Given the description of an element on the screen output the (x, y) to click on. 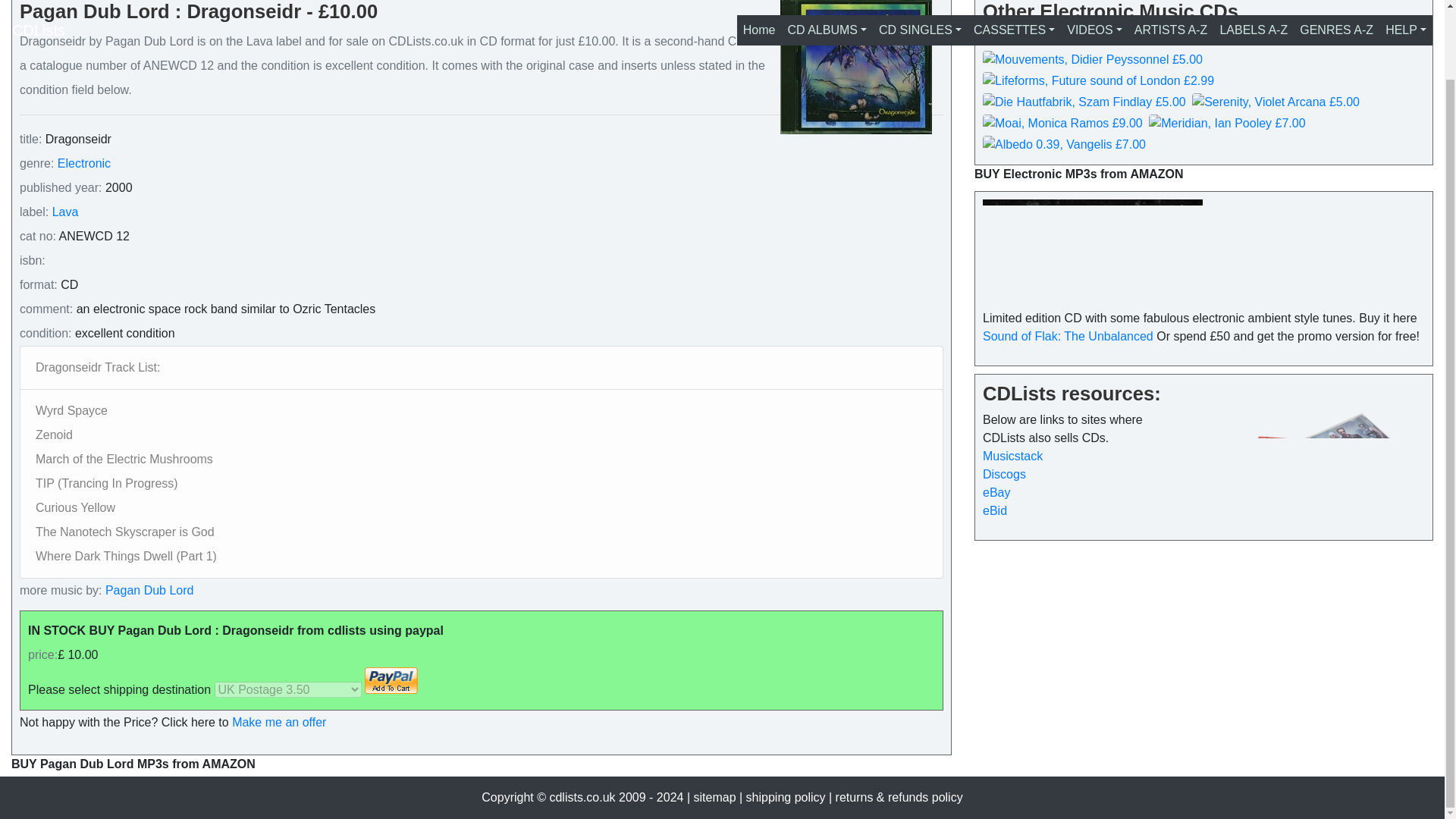
more music by Pagan Dub Lord  (147, 590)
CDLists records for sale on Musicstack (1012, 455)
CDLists records for sale on Discogs (1004, 473)
more items on Lava label (65, 211)
CDLists records for sale on eBid (994, 510)
Pagan Dub Lord  Dragonseidr CD (855, 67)
CDLists records for auction on eBay (996, 492)
more music from the Electronic genre (84, 163)
